Given the description of an element on the screen output the (x, y) to click on. 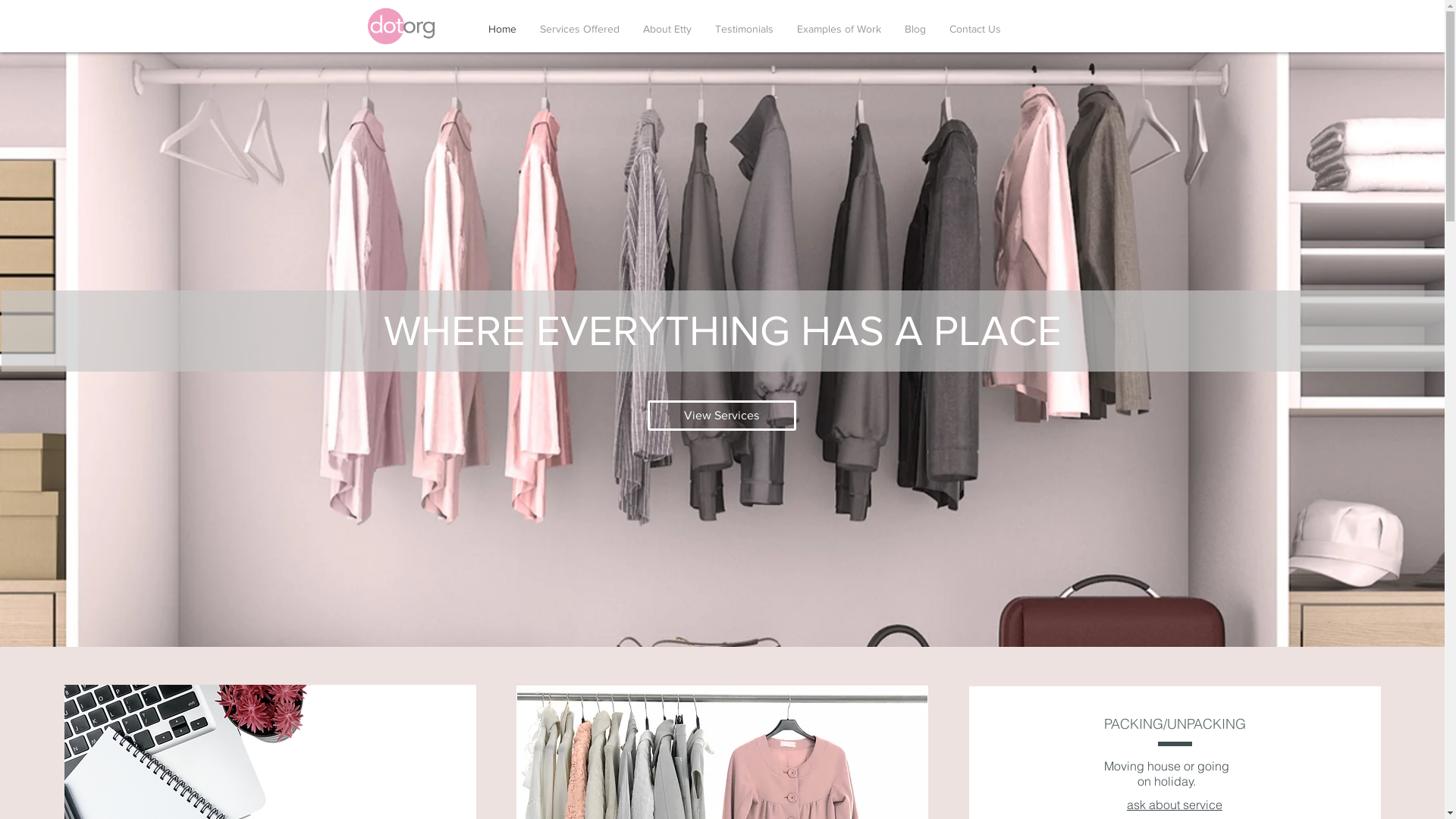
Testimonials Element type: text (744, 28)
Blog Element type: text (915, 28)
Examples of Work Element type: text (839, 28)
View Services Element type: text (721, 415)
Services Offered Element type: text (578, 28)
Home Element type: text (502, 28)
ask about service Element type: text (1174, 804)
Contact Us Element type: text (974, 28)
About Etty Element type: text (666, 28)
